Given the description of an element on the screen output the (x, y) to click on. 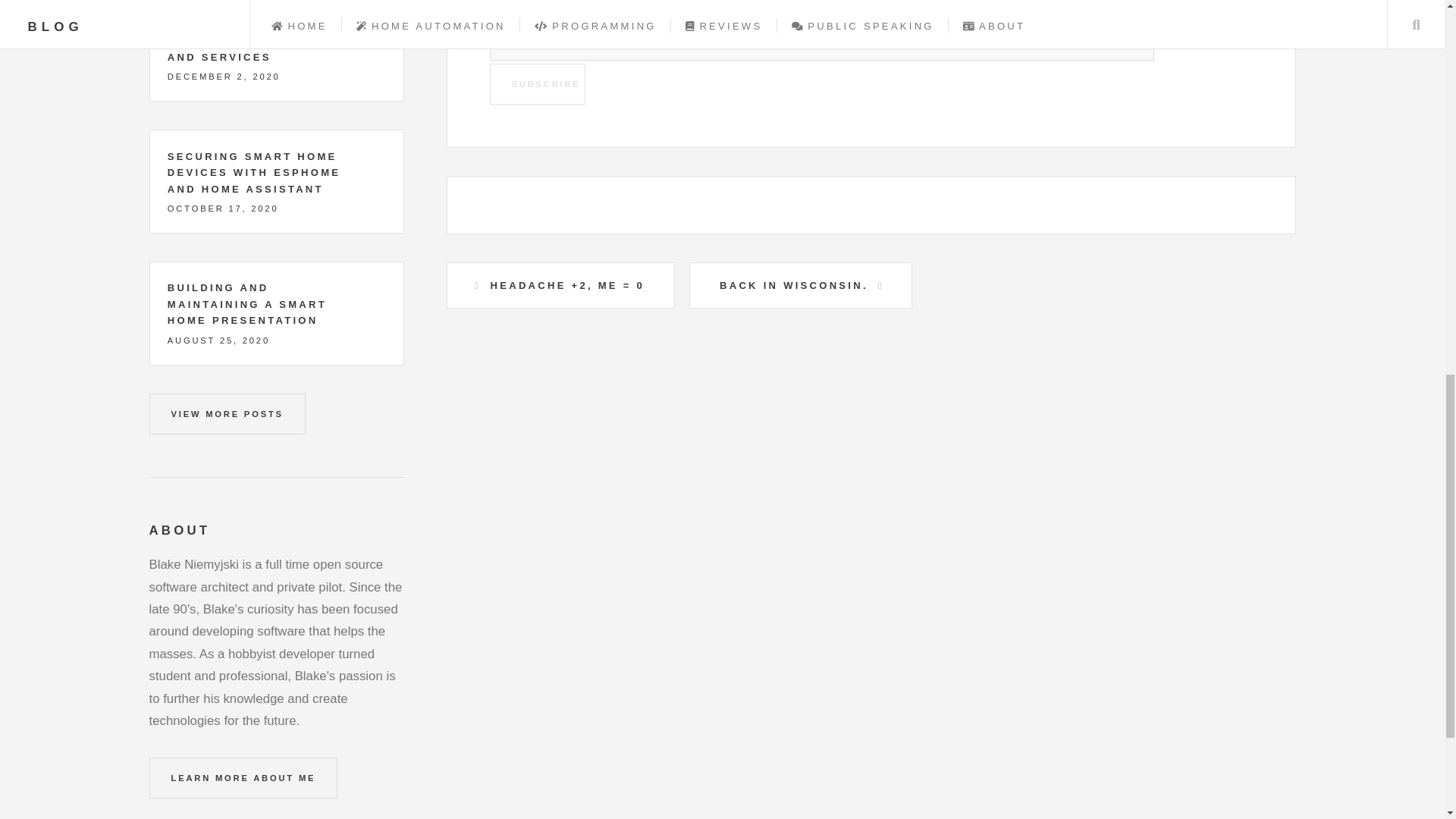
VIEW MORE POSTS (226, 413)
BUILDING AND MAINTAINING A SMART HOME PRESENTATION (246, 303)
DISTURBING TRENDS IN SMART HOME PRODUCTS AND SERVICES (253, 40)
BACK IN WISCONSIN. (800, 285)
SUBSCRIBE (537, 83)
SECURING SMART HOME DEVICES WITH ESPHOME AND HOME ASSISTANT (253, 172)
